Given the description of an element on the screen output the (x, y) to click on. 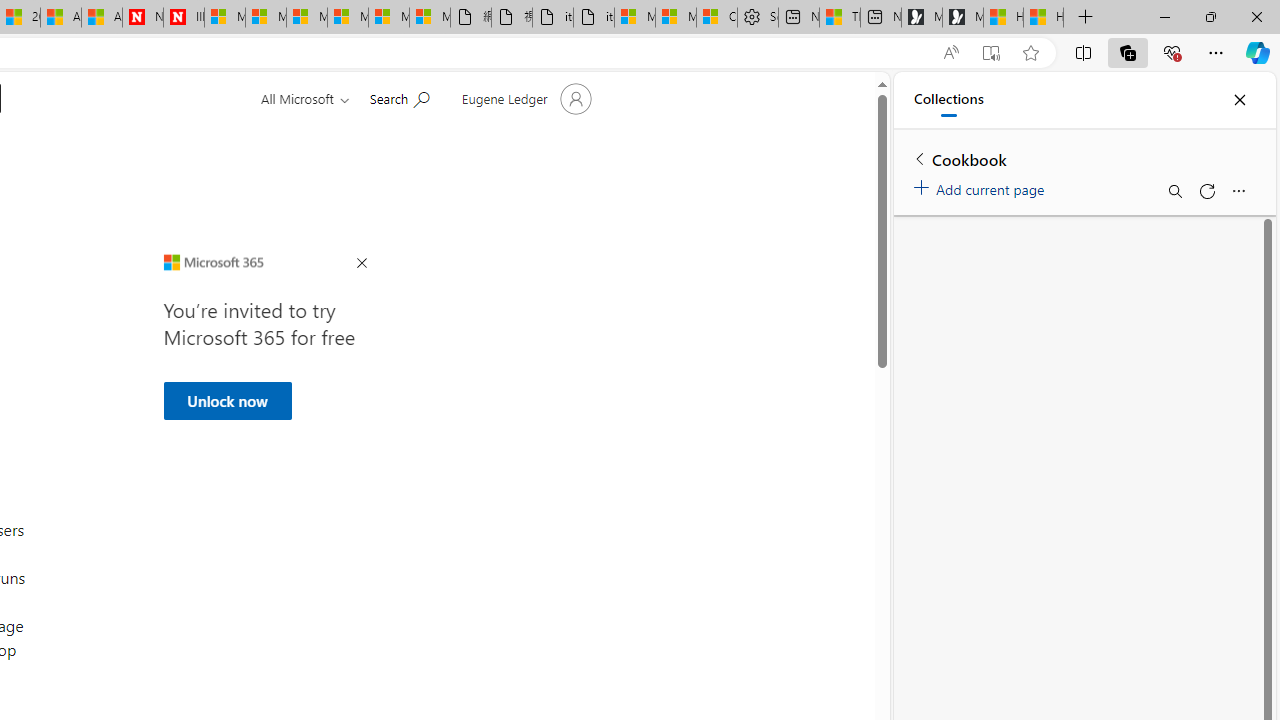
Account manager for Eugene Ledger (524, 98)
Consumer Health Data Privacy Policy (717, 17)
